Given the description of an element on the screen output the (x, y) to click on. 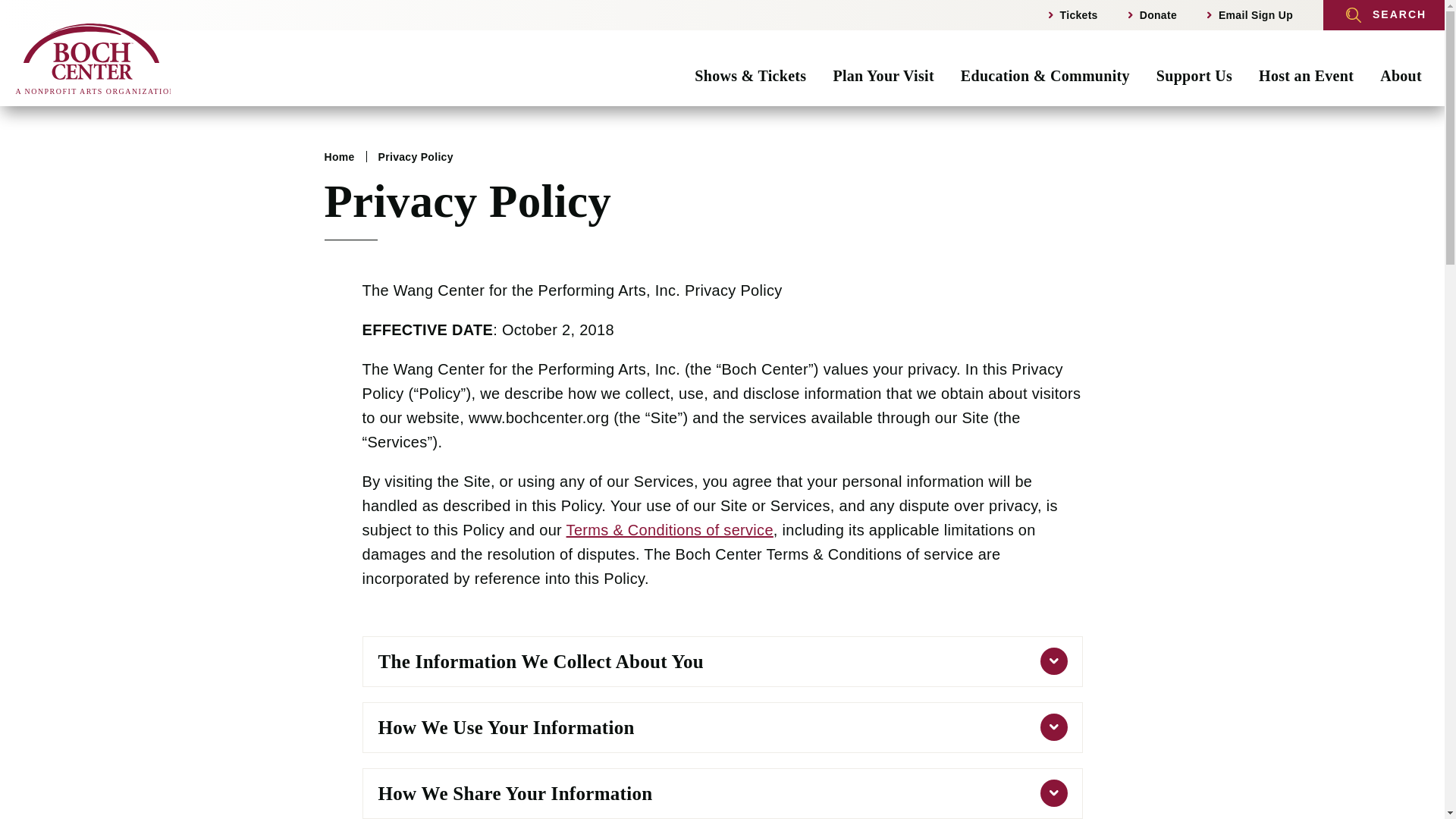
A NONPROFIT ARTS ORGANIZATION (92, 58)
Donate (92, 58)
Plan Your Visit (1152, 14)
Tickets (882, 75)
Boch Center (1072, 14)
Email Sign Up (92, 58)
